Given the description of an element on the screen output the (x, y) to click on. 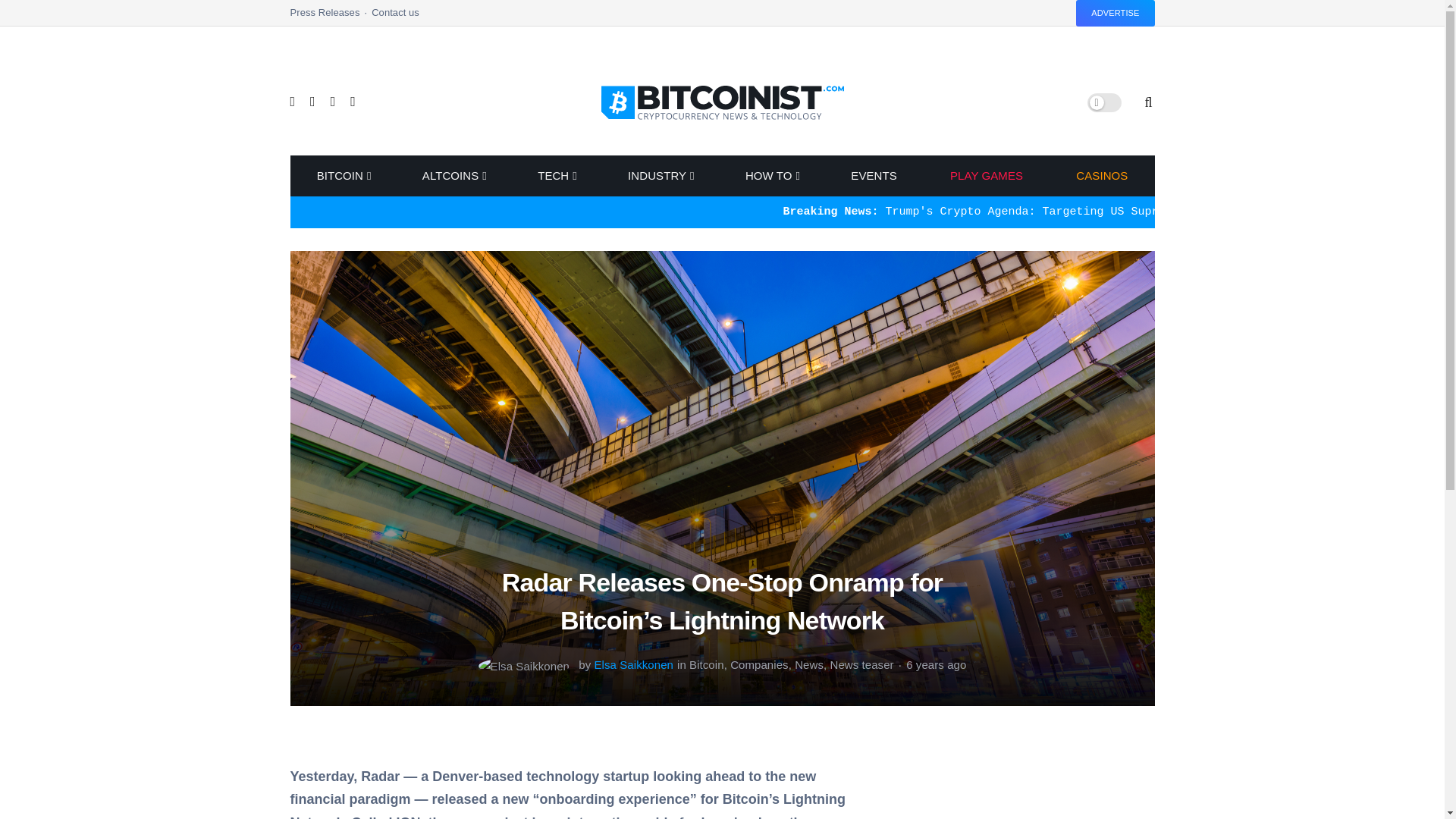
Contact us (395, 17)
INDUSTRY (660, 175)
HOW TO (771, 175)
BITCOIN (341, 175)
ALTCOINS (453, 175)
Press Releases (330, 17)
ADVERTISE (1114, 13)
TECH (555, 175)
